Given the description of an element on the screen output the (x, y) to click on. 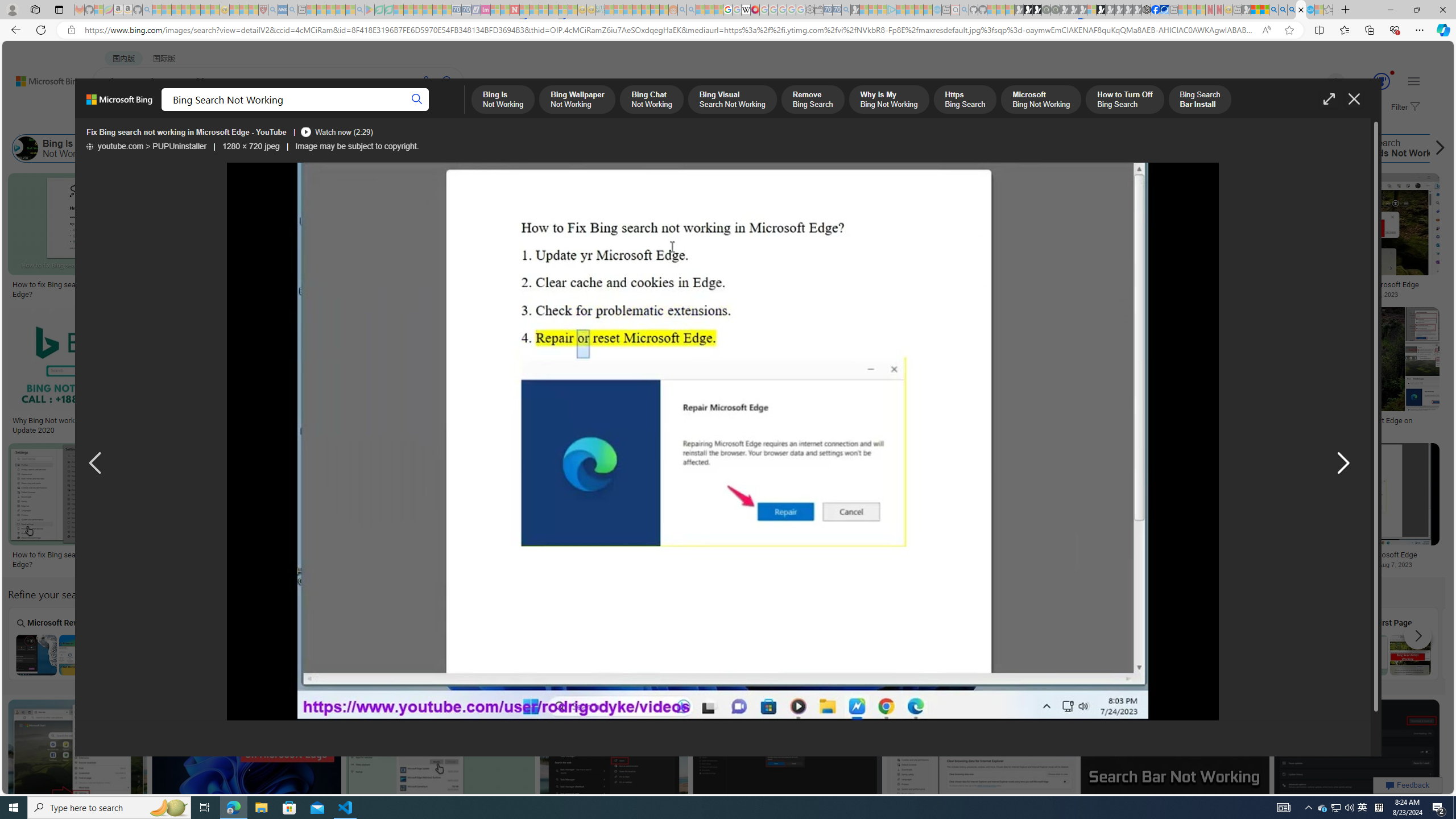
MSN - Sleeping (1246, 9)
Microsoft Bing, Back to Bing search (118, 104)
Bing Work Search Not Working (1285, 655)
Services - Maintenance | Sky Blue Bikes - Sky Blue Bikes (1309, 9)
Dropdown Menu (451, 111)
Bing Search Points Not Working (467, 655)
Microsoft Rewards 84 (1370, 81)
